Given the description of an element on the screen output the (x, y) to click on. 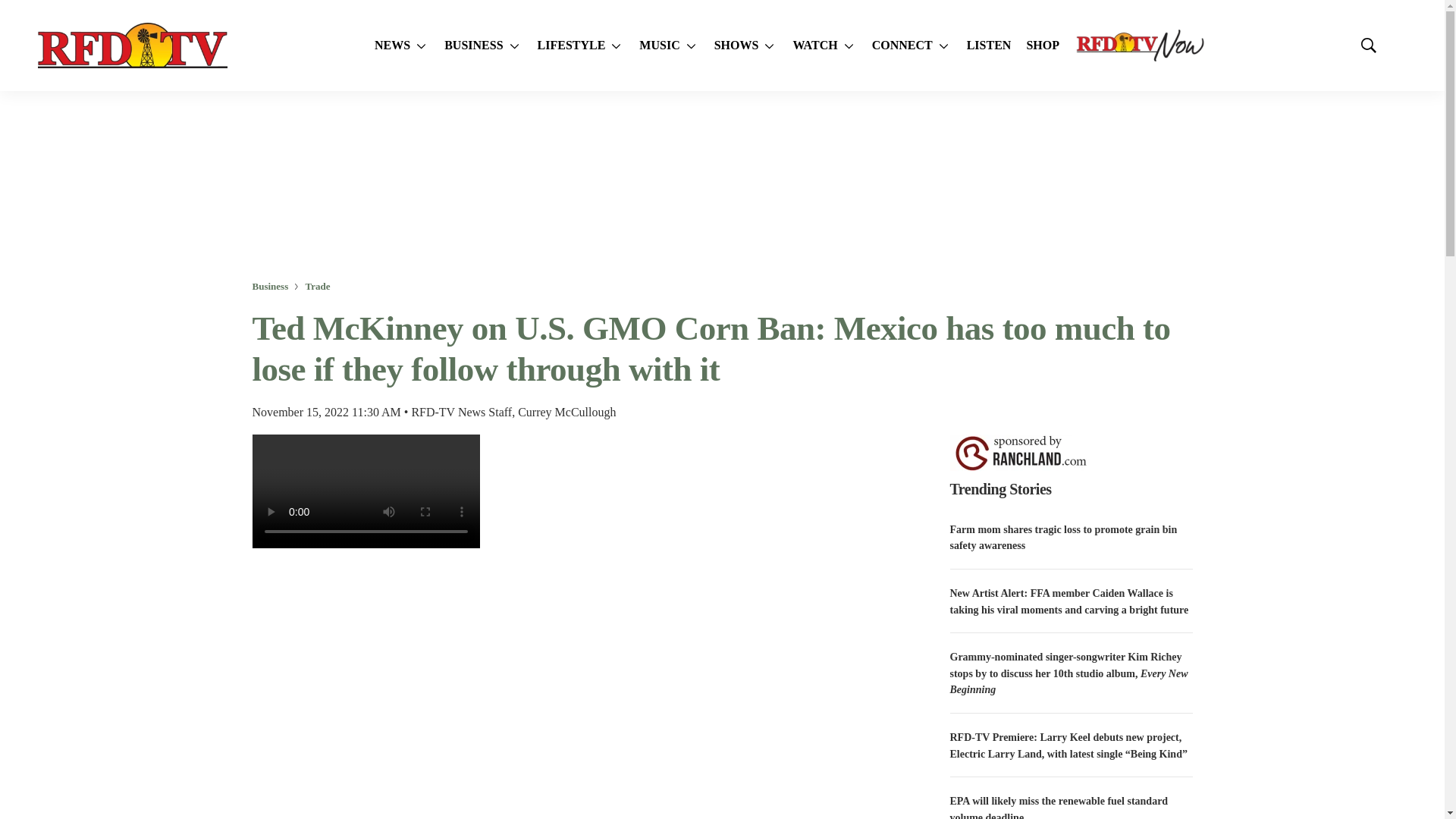
3rd party ad content (721, 185)
